Given the description of an element on the screen output the (x, y) to click on. 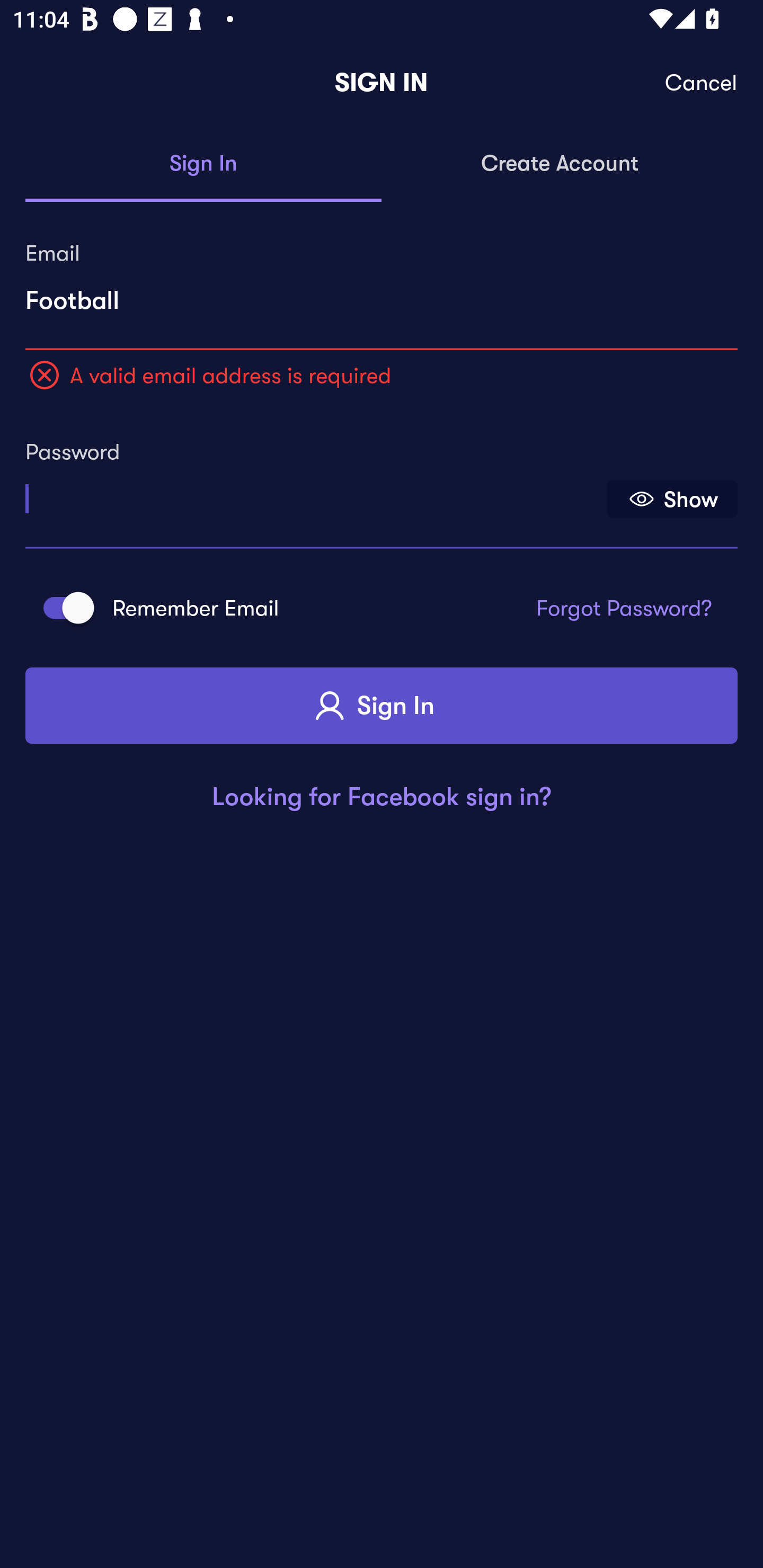
Cancel (701, 82)
Sign In (203, 164)
Create Account (559, 164)
Password (314, 493)
Show Password Show (671, 498)
Remember Email (62, 607)
Sign In (381, 705)
